Given the description of an element on the screen output the (x, y) to click on. 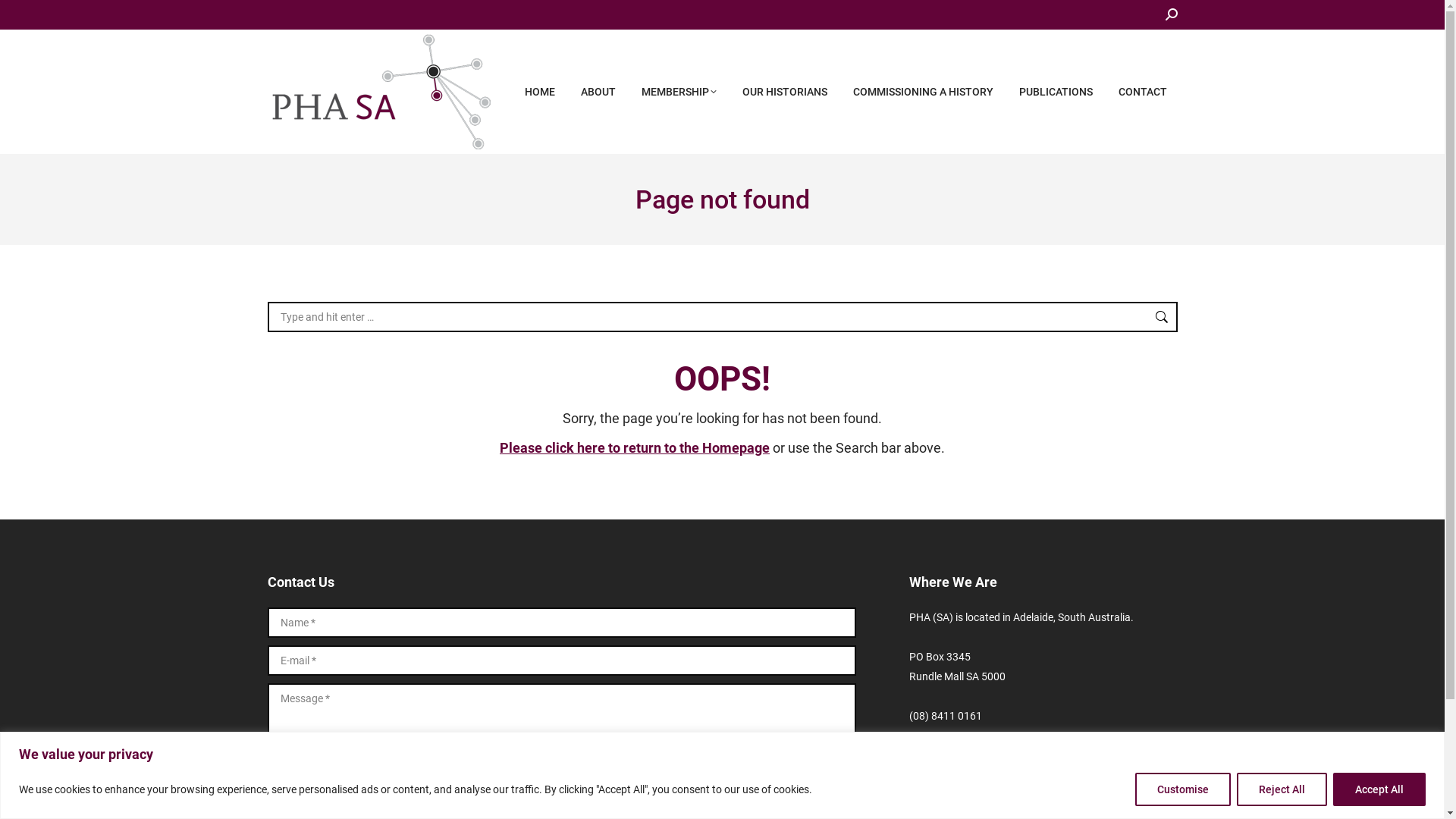
PUBLICATIONS Element type: text (1055, 91)
Accept All Element type: text (1379, 788)
Reject All Element type: text (1281, 788)
Please click here to return to the Homepage Element type: text (634, 447)
submit Element type: text (368, 784)
ABOUT Element type: text (598, 91)
OUR HISTORIANS Element type: text (784, 91)
CONTACT Element type: text (1141, 91)
Go! Element type: text (1154, 316)
MEMBERSHIP Element type: text (678, 91)
COMMISSIONING A HISTORY Element type: text (922, 91)
HOME Element type: text (539, 91)
Go! Element type: text (23, 15)
Customise Element type: text (1182, 788)
Submit Element type: text (297, 782)
